Given the description of an element on the screen output the (x, y) to click on. 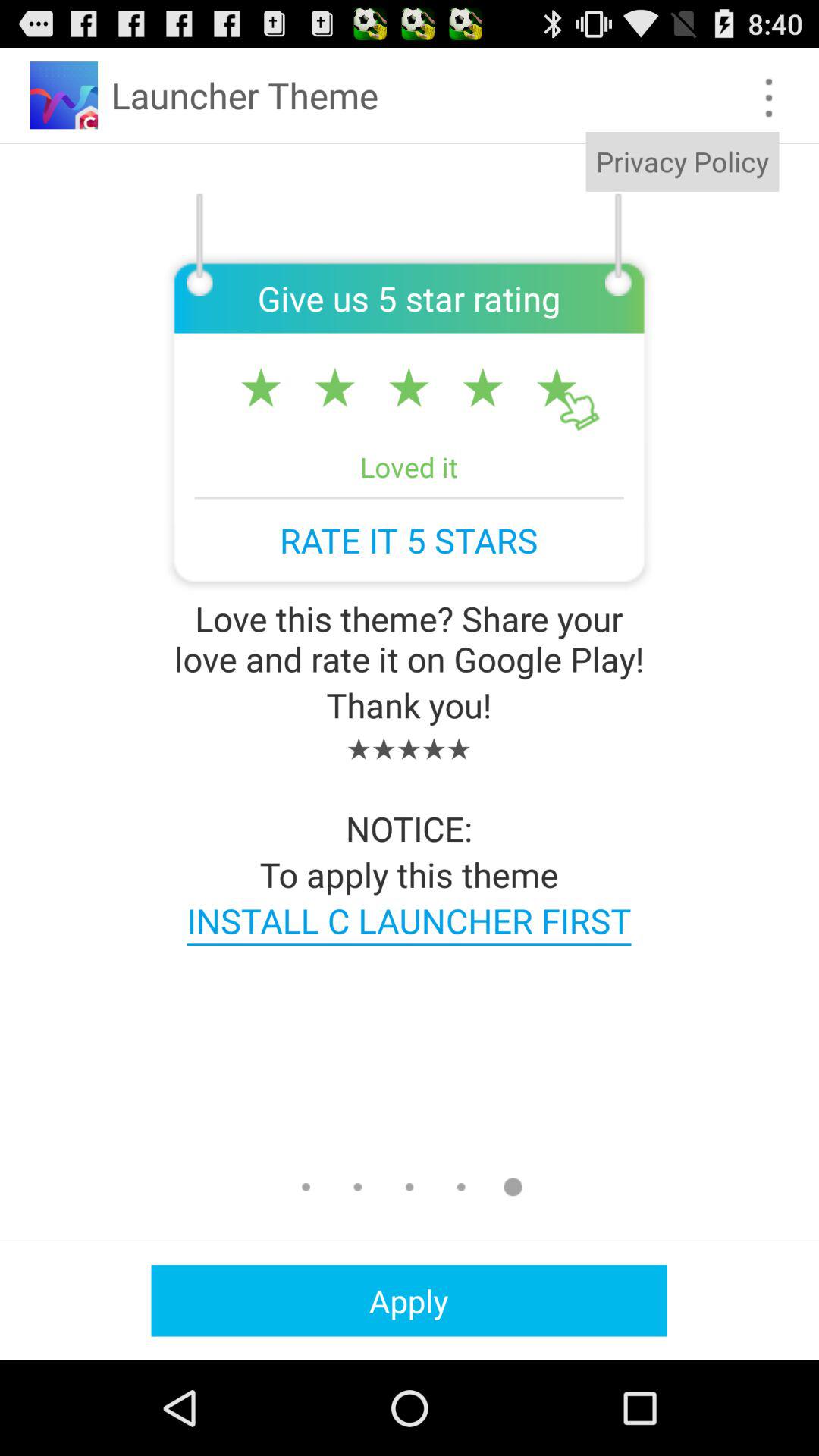
click settings (768, 97)
